Given the description of an element on the screen output the (x, y) to click on. 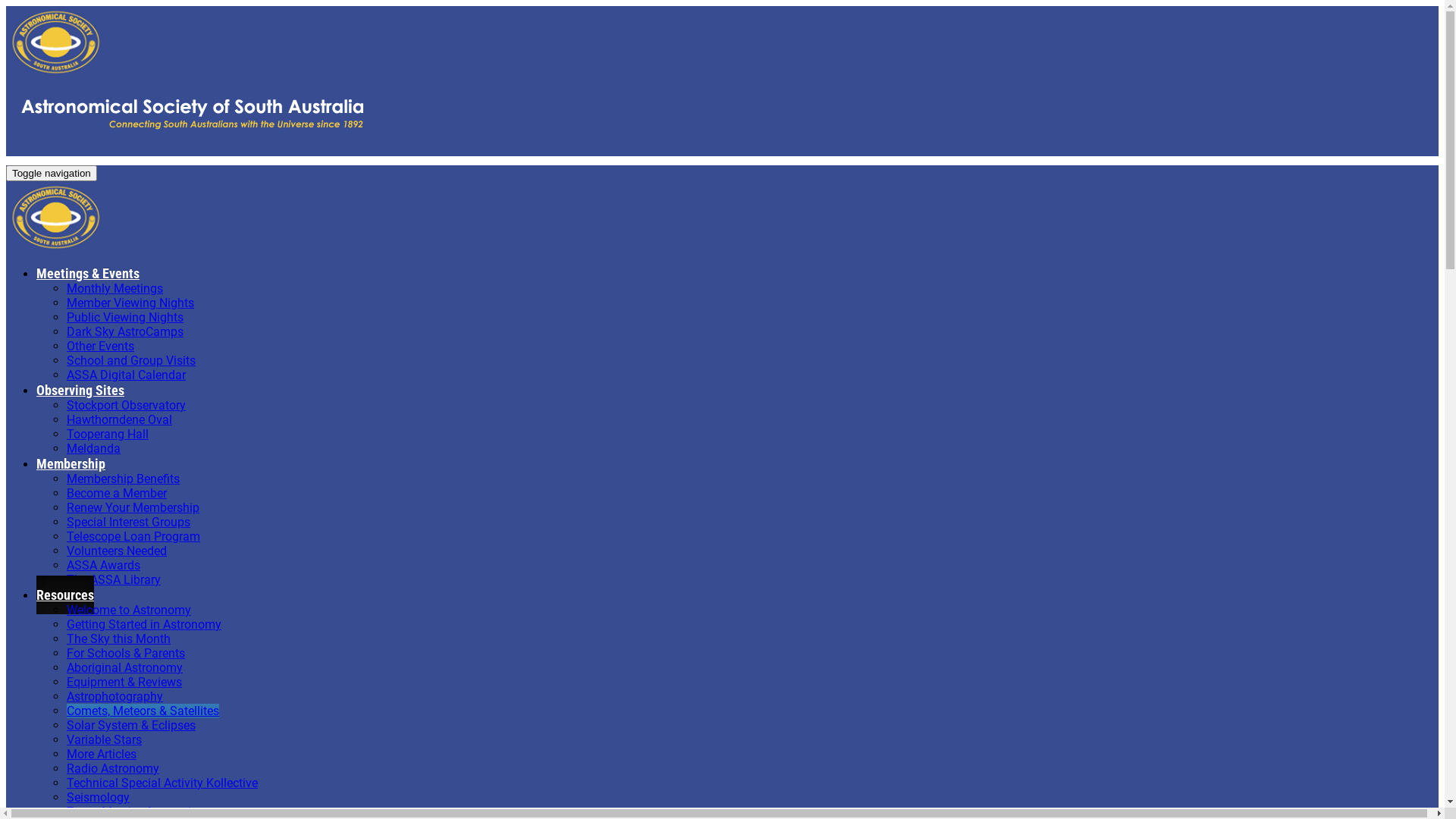
Toggle navigation Element type: text (51, 173)
The Sky this Month Element type: text (118, 638)
Dark Sky AstroCamps Element type: text (124, 331)
Solar System & Eclipses Element type: text (130, 725)
Astrophotography Element type: text (114, 696)
Comets, Meteors & Satellites Element type: text (142, 710)
Renew Your Membership Element type: text (132, 507)
The ASSA Library Element type: text (113, 579)
ASSA Awards Element type: text (103, 565)
Radio Astronomy Element type: text (112, 768)
Resources Element type: text (65, 594)
Hawthorndene Oval Element type: text (119, 419)
Seismology Element type: text (97, 797)
Stockport Observatory Element type: text (125, 405)
Other Events Element type: text (100, 345)
Technical Special Activity Kollective Element type: text (161, 782)
Special Interest Groups Element type: text (128, 521)
Welcome to Astronomy Element type: text (128, 609)
Equipment & Reviews Element type: text (124, 681)
Getting Started in Astronomy Element type: text (143, 624)
More Articles Element type: text (101, 753)
Aboriginal Astronomy Element type: text (124, 667)
Membership Element type: text (70, 463)
For Schools & Parents Element type: text (125, 653)
School and Group Visits Element type: text (130, 360)
ASSA Digital Calendar Element type: text (125, 374)
Meetings & Events Element type: text (87, 273)
Telescope Loan Program Element type: text (133, 536)
Public Viewing Nights Element type: text (124, 317)
Membership Benefits Element type: text (122, 478)
Become a Member Element type: text (116, 493)
Meldanda Element type: text (93, 448)
Variable Stars Element type: text (103, 739)
Tooperang Hall Element type: text (107, 433)
Monthly Meetings Element type: text (114, 288)
Observing Sites Element type: text (80, 389)
Member Viewing Nights Element type: text (130, 302)
Volunteers Needed Element type: text (116, 550)
